Given the description of an element on the screen output the (x, y) to click on. 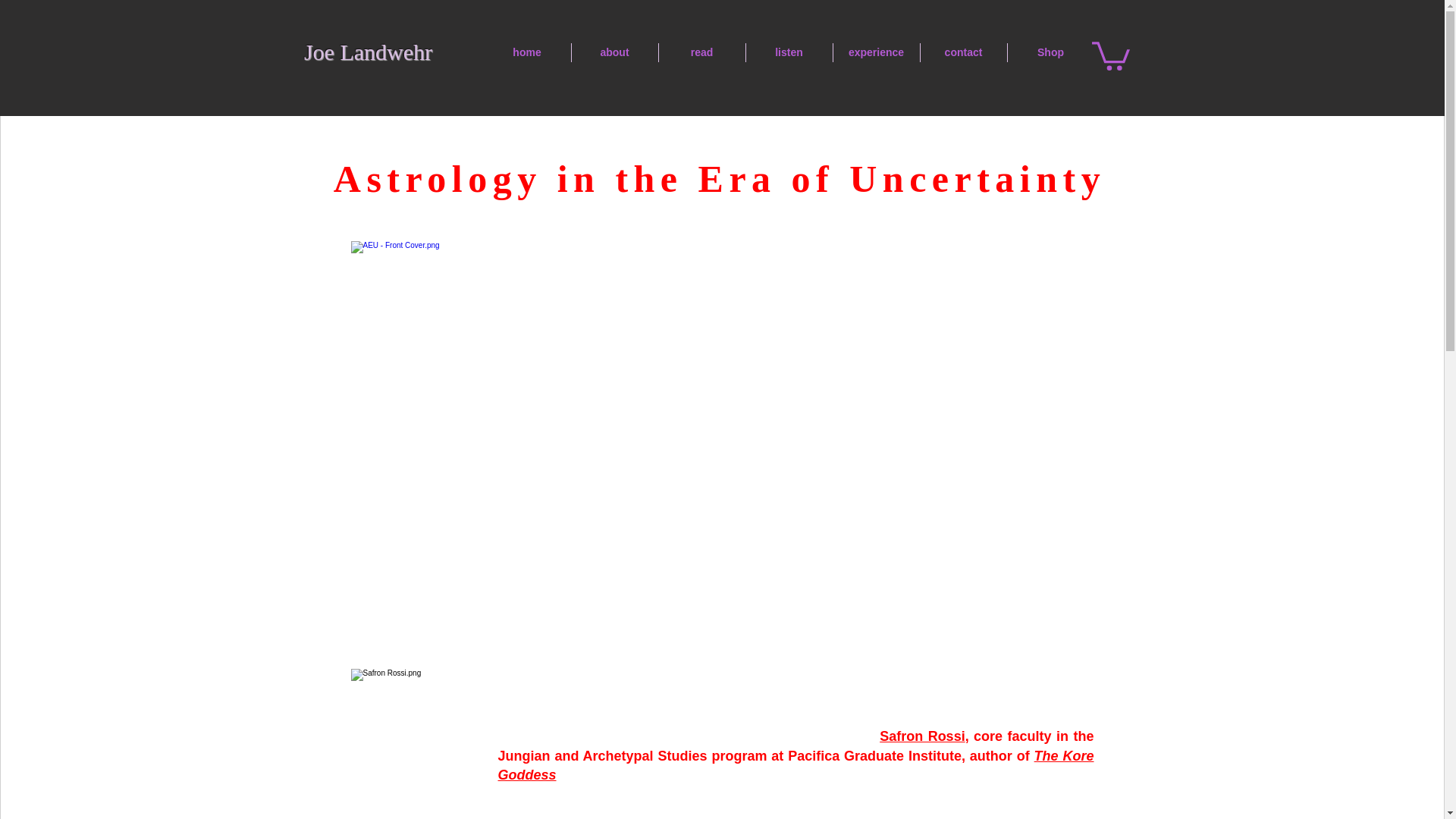
contact (963, 52)
about (615, 52)
experience (875, 52)
home (526, 52)
read (701, 52)
Shop (1050, 52)
listen (788, 52)
The Kore Goddess (795, 765)
Safron Rossi (921, 735)
